Given the description of an element on the screen output the (x, y) to click on. 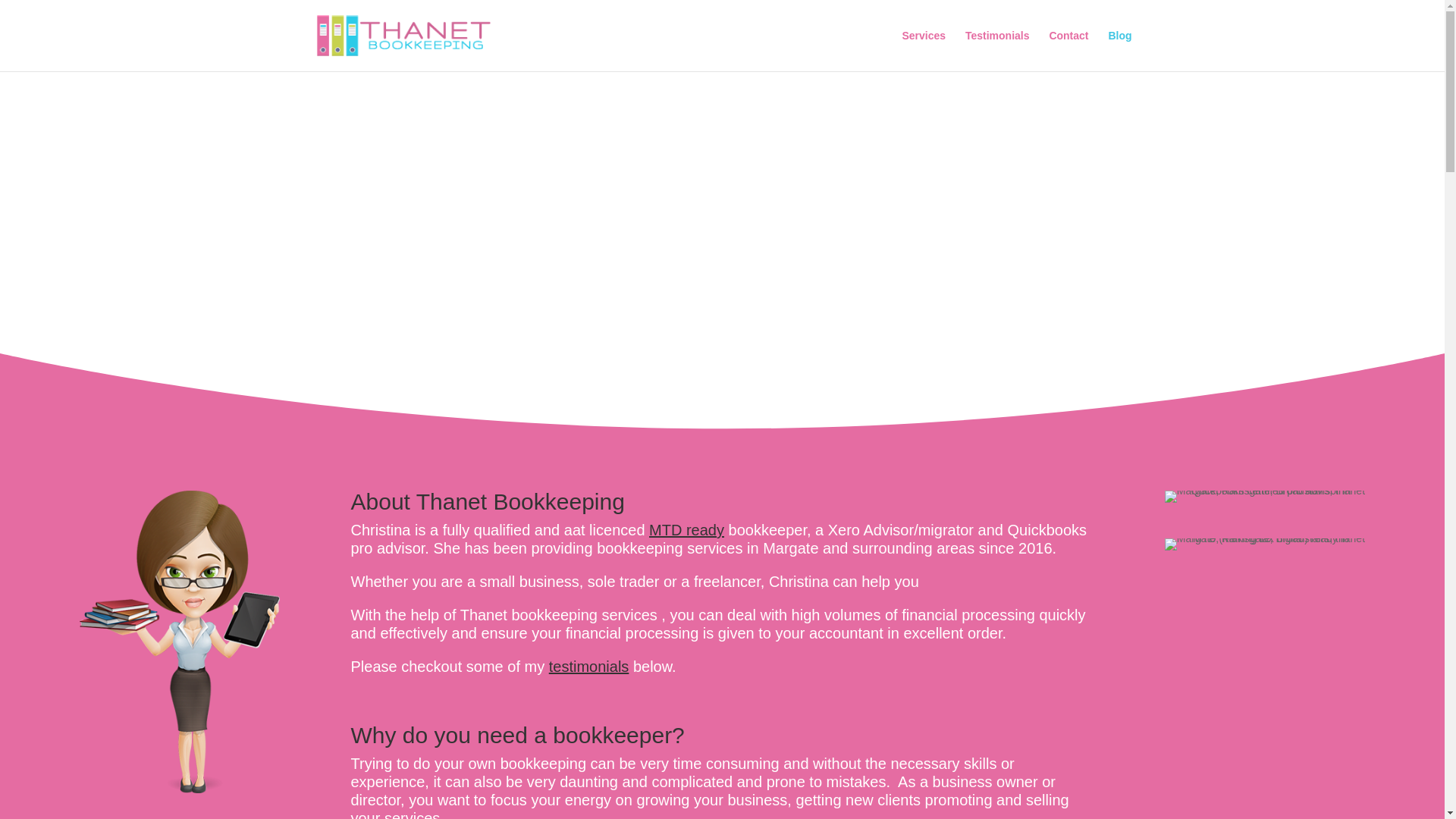
MTD ready (686, 529)
testimonials (588, 666)
Testimonials (997, 50)
Contact (1067, 50)
Services (922, 50)
